Given the description of an element on the screen output the (x, y) to click on. 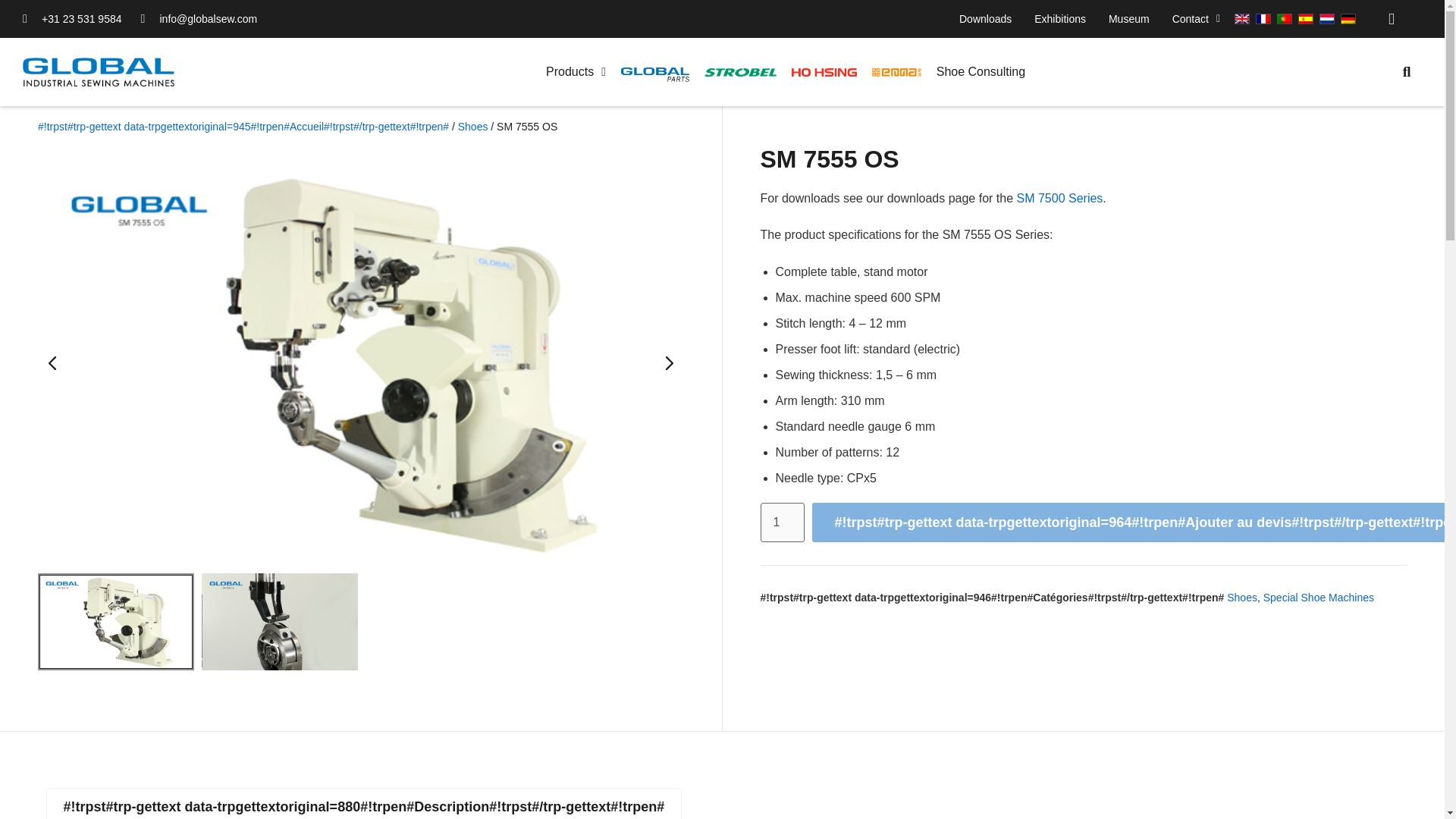
Contact (1195, 18)
English (1241, 18)
Spanish (1305, 18)
Dutch (1326, 18)
Downloads (985, 18)
Products (575, 71)
Exhibitions (1060, 18)
Portuguese (1284, 18)
German (1347, 18)
Museum (1128, 18)
1 (781, 522)
French (1262, 18)
